Given the description of an element on the screen output the (x, y) to click on. 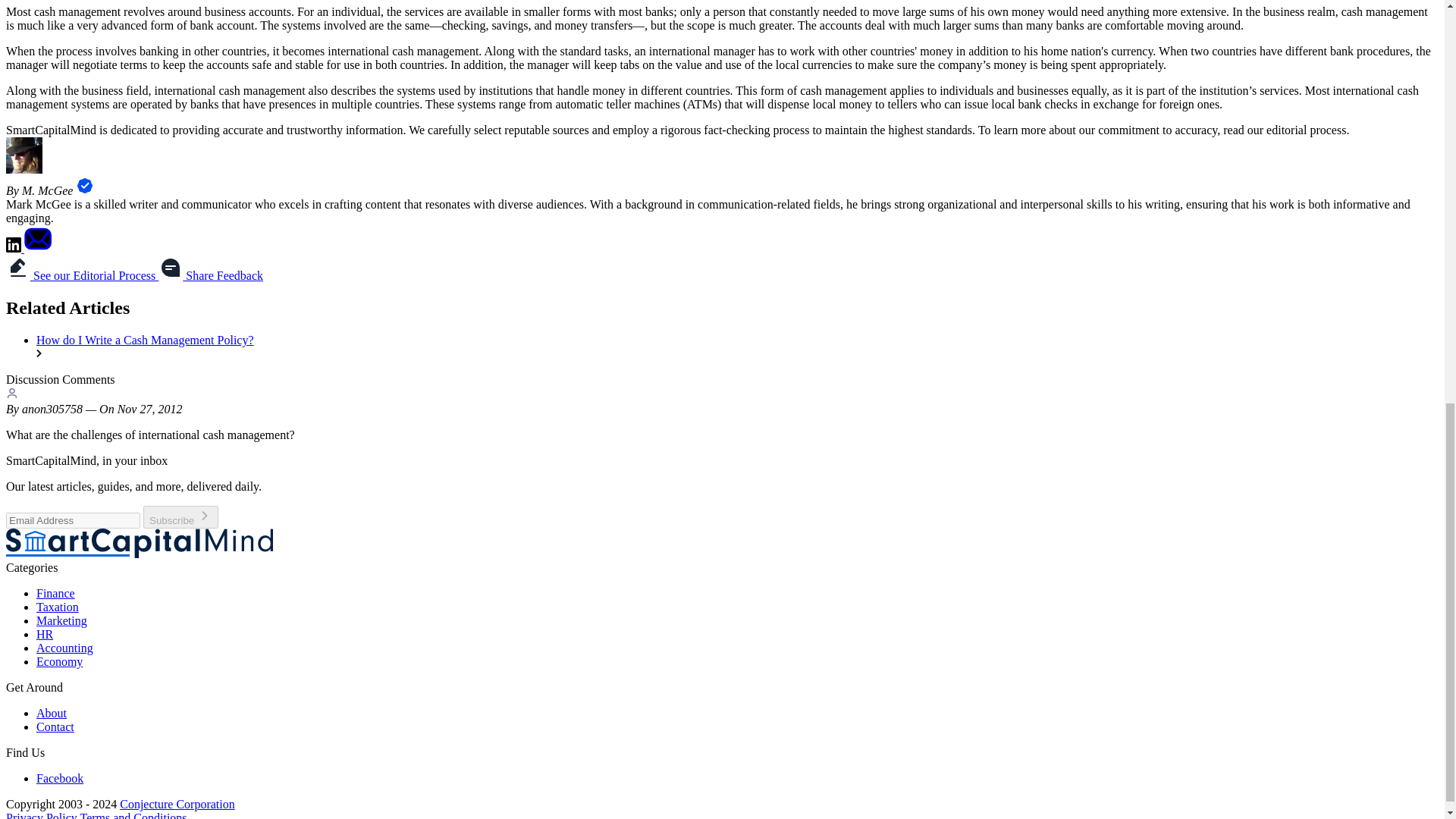
Subscribe (180, 517)
Share Feedback (210, 275)
See our Editorial Process (81, 275)
